Given the description of an element on the screen output the (x, y) to click on. 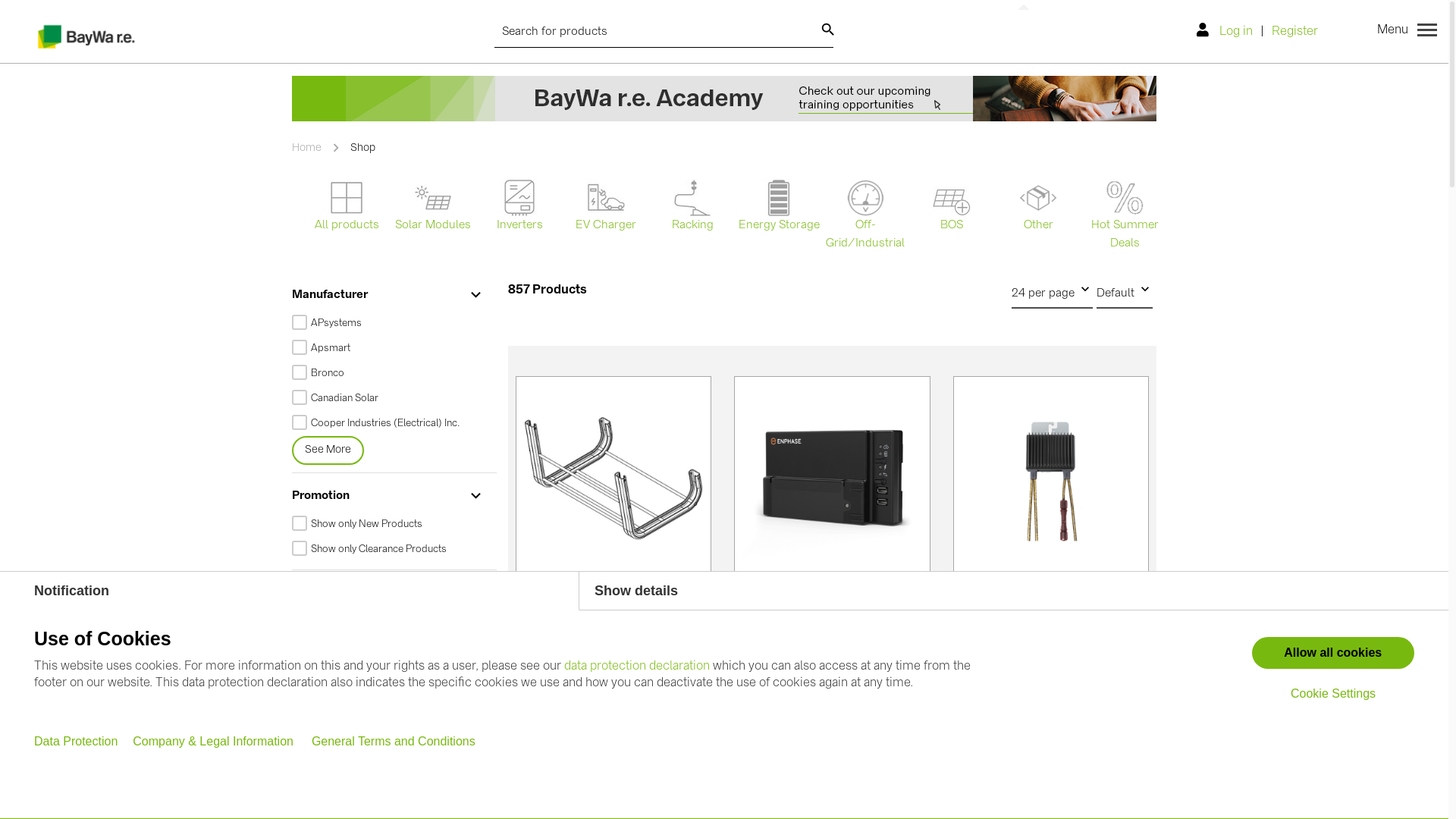
Bronco Element type: text (388, 372)
Apsmart Element type: text (388, 347)
EV Charger Element type: text (605, 206)
data protection declaration Element type: text (636, 665)
Notification Element type: text (289, 590)
Racking Element type: text (692, 206)
Default Element type: text (1124, 292)
General Terms and Conditions Element type: text (393, 740)
24 per page Element type: text (1051, 292)
Energy Storage Element type: text (778, 206)
Shop Categories Element type: text (388, 592)
Unirac 370010 RM10 EVO FIELD BAY
Log in to see price Element type: text (613, 550)
Promotion Element type: text (388, 495)
Show only New Products Element type: text (388, 523)
Bifacial Element type: text (388, 796)
Manufacturer Element type: text (388, 294)
Show only Clearance Products Element type: text (388, 548)
Monofacial Element type: text (388, 771)
Home Element type: text (307, 147)
Show details Element type: text (1013, 590)
All products Element type: text (346, 206)
    Allow all cookies     Element type: text (1333, 652)
Register Element type: text (1294, 31)
Cookie Settings Element type: text (1333, 693)
Module Cell Type Element type: text (388, 743)
BOS Element type: text (951, 210)
Off-Grid/Industrial Element type: text (865, 215)
Inverters Element type: text (519, 206)
See More Element type: text (327, 698)
Solar Modules Element type: text (432, 206)
All EV Chargers Element type: text (388, 671)
Hot Summer Deals Element type: text (1124, 215)
Other Element type: text (1037, 206)
Log in Element type: text (1228, 31)
Cooper Industries (Electrical) Inc. Element type: text (388, 423)
See More Element type: text (327, 450)
Canadian Solar Element type: text (388, 398)
All Solar Modules Element type: text (388, 620)
Company & Legal Information Element type: text (214, 740)
APsystems Element type: text (388, 322)
All Inverters Element type: text (388, 645)
BayWareSolarshop - SCA Element type: hover (86, 34)
Data Protection Element type: text (77, 740)
